Given the description of an element on the screen output the (x, y) to click on. 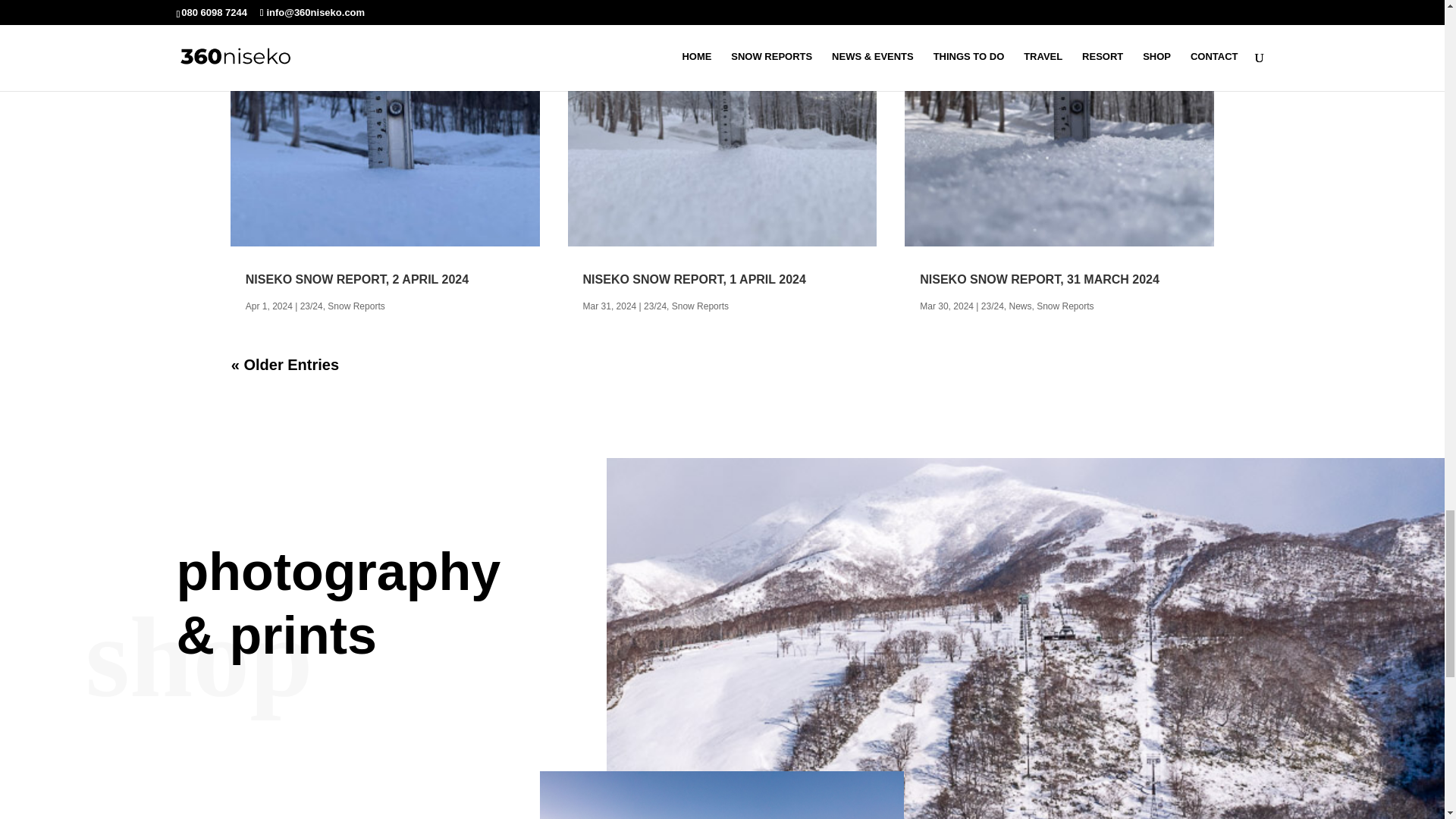
NISEKO SNOW REPORT, 1 APRIL 2024 (694, 278)
NISEKO SNOW REPORT, 2 APRIL 2024 (357, 278)
niseko-2021-12-26 (722, 795)
Snow Reports (355, 306)
Snow Reports (700, 306)
